Given the description of an element on the screen output the (x, y) to click on. 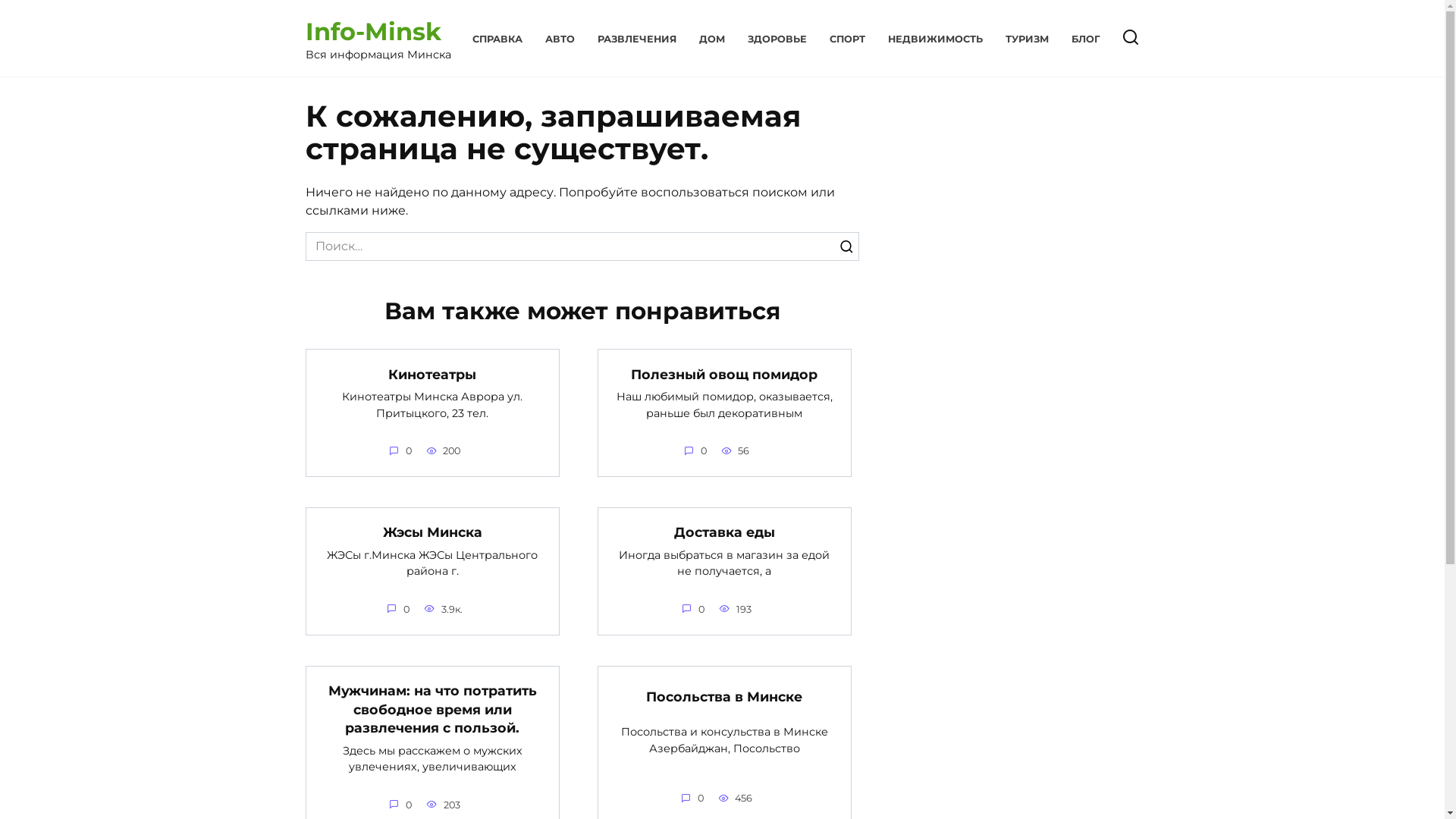
Info-Minsk Element type: text (372, 31)
